Given the description of an element on the screen output the (x, y) to click on. 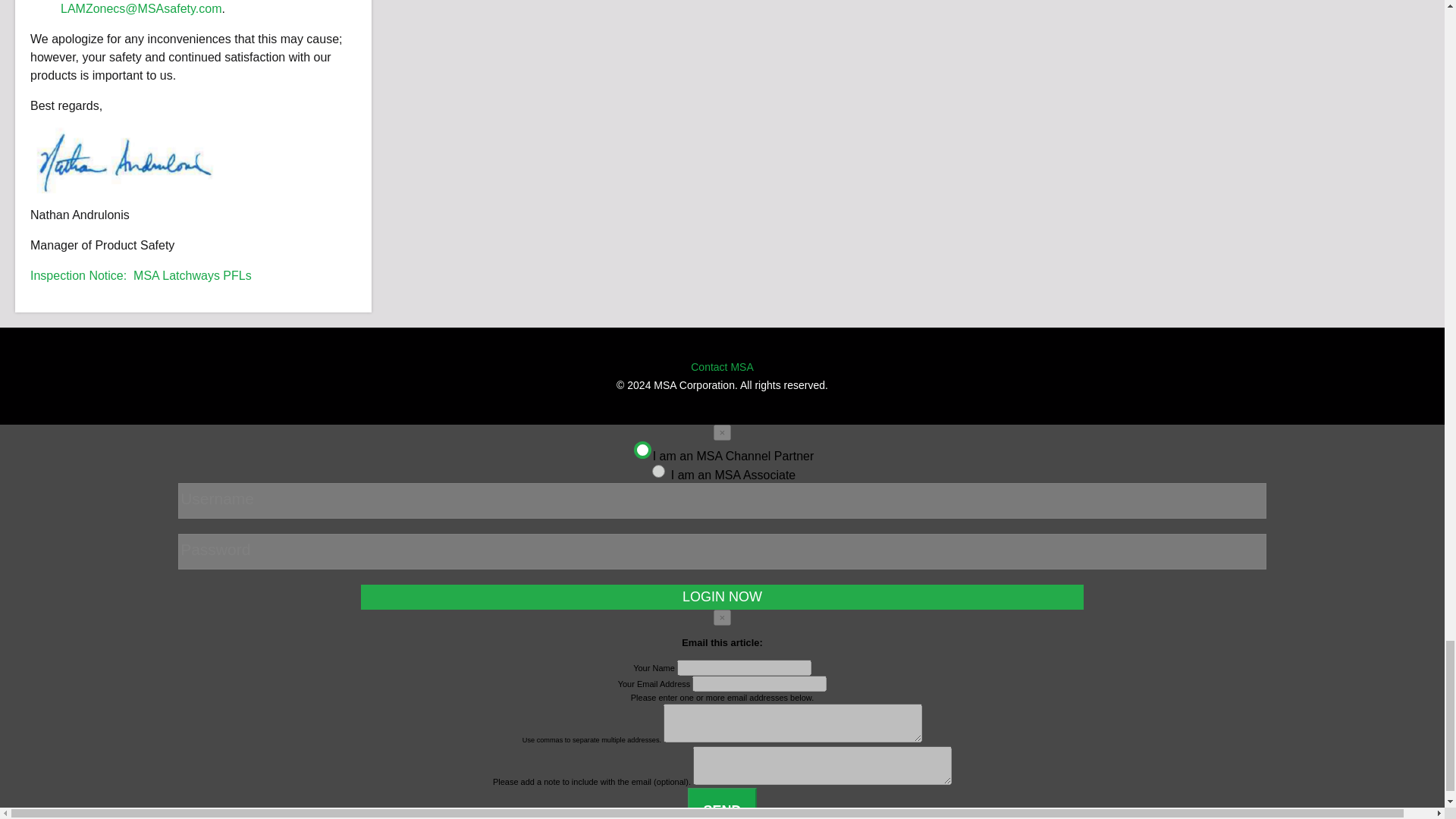
AD (657, 470)
LOGIN NOW (722, 596)
HY (639, 447)
